Given the description of an element on the screen output the (x, y) to click on. 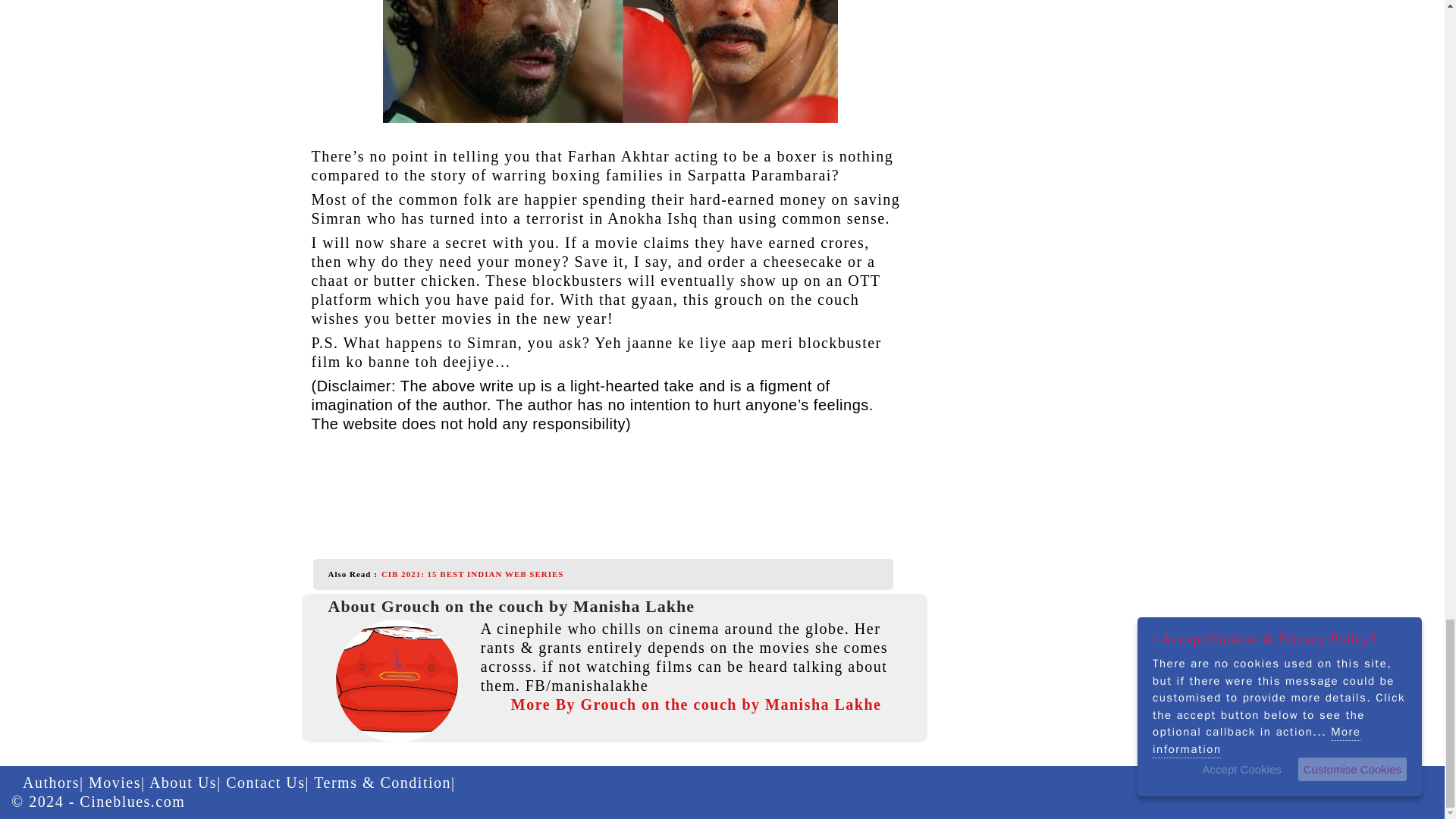
Grouch on the couch by Manisha Lakhe  (395, 680)
